Given the description of an element on the screen output the (x, y) to click on. 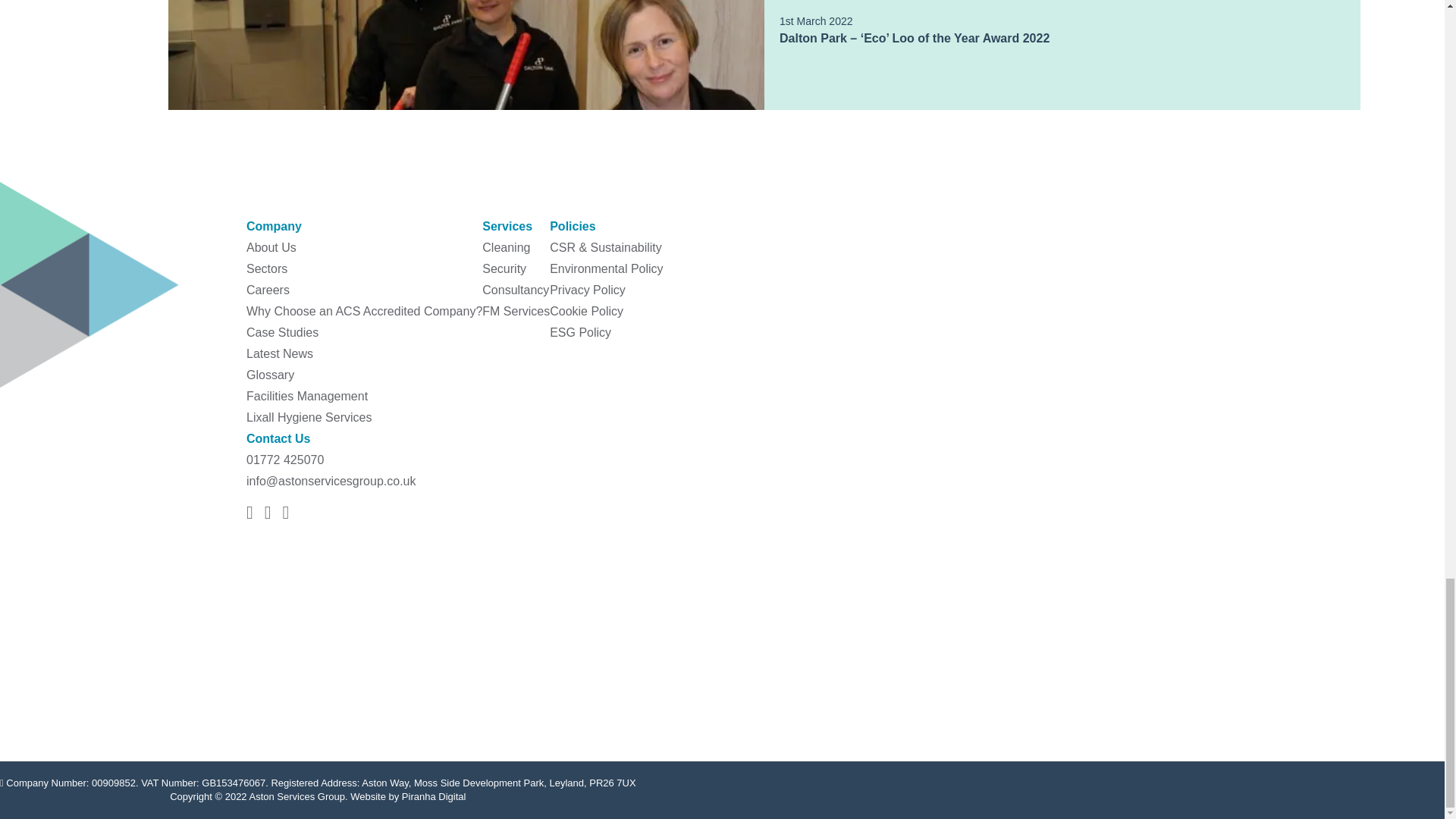
Case Studies (282, 332)
Why Choose an ACS Accredited Company? (363, 310)
Sectors (266, 268)
Careers (267, 289)
About Us (271, 246)
